Given the description of an element on the screen output the (x, y) to click on. 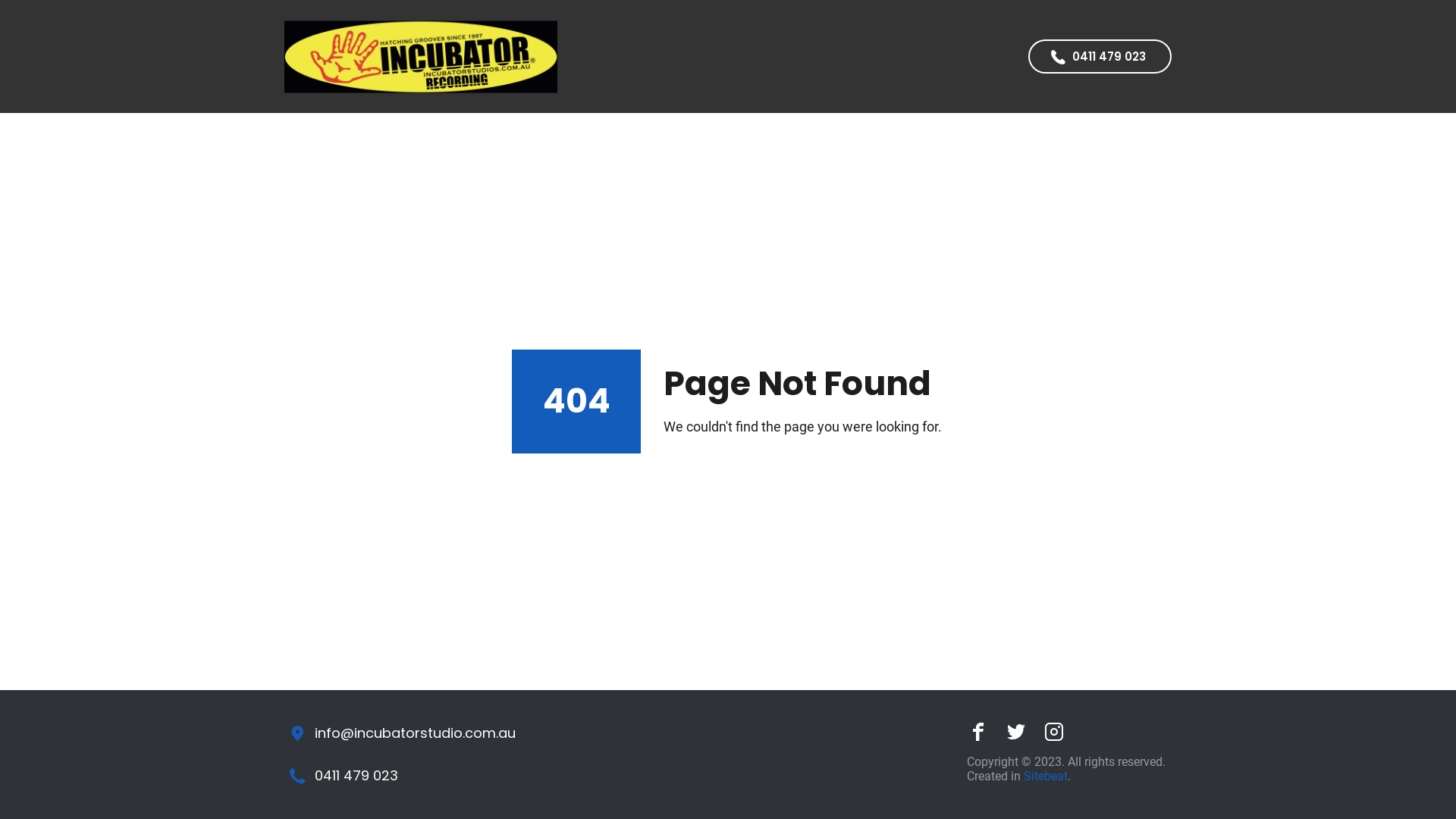
0411 479 023 Element type: text (343, 775)
Sitebeat Element type: text (1045, 776)
0411 479 023  Element type: text (1099, 56)
info@incubatorstudio.com.au Element type: text (402, 733)
